Given the description of an element on the screen output the (x, y) to click on. 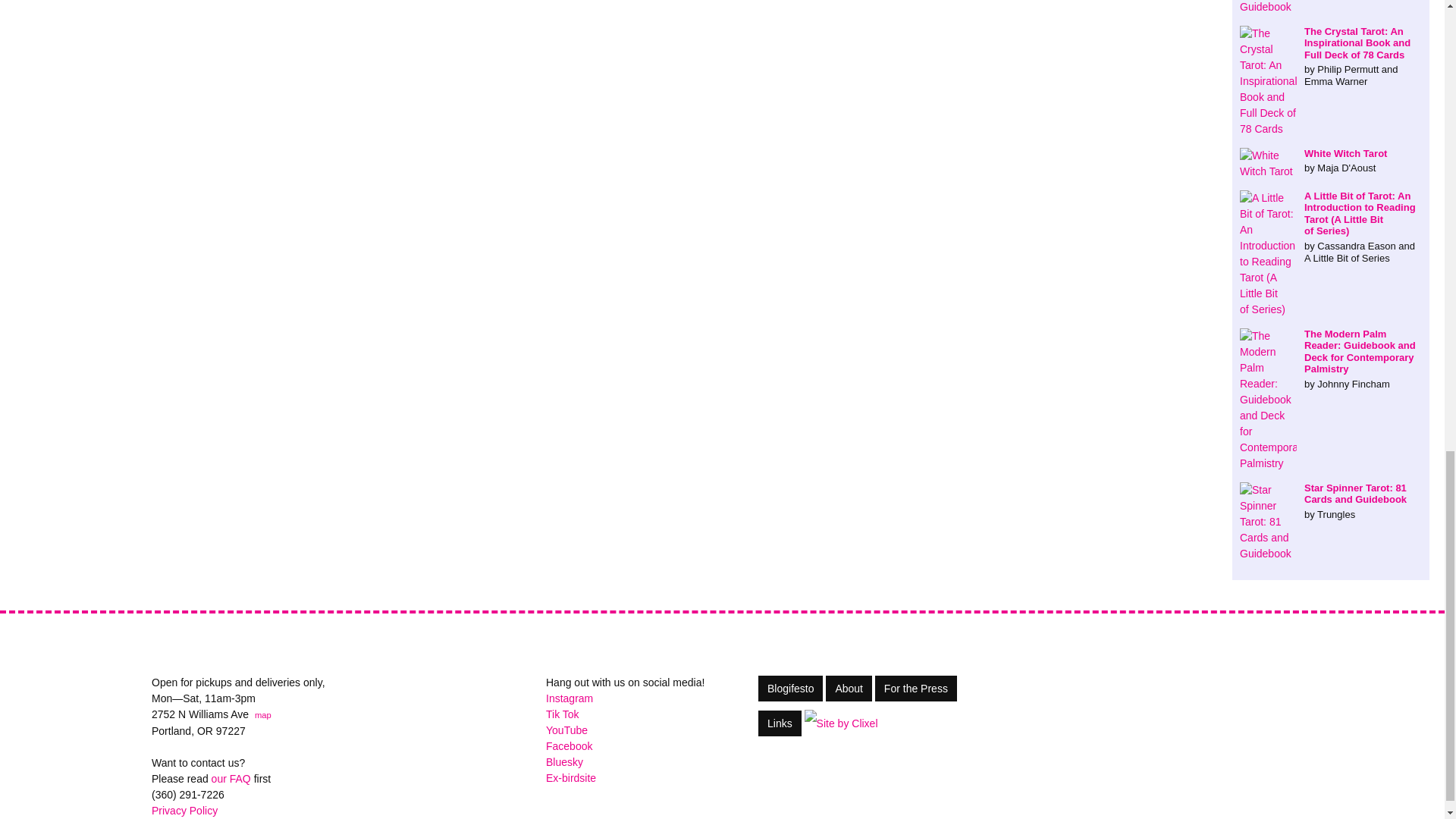
White Witch Tarot (1331, 161)
Star Spinner Tarot: 81 Cards and Guidebook (1331, 501)
